Given the description of an element on the screen output the (x, y) to click on. 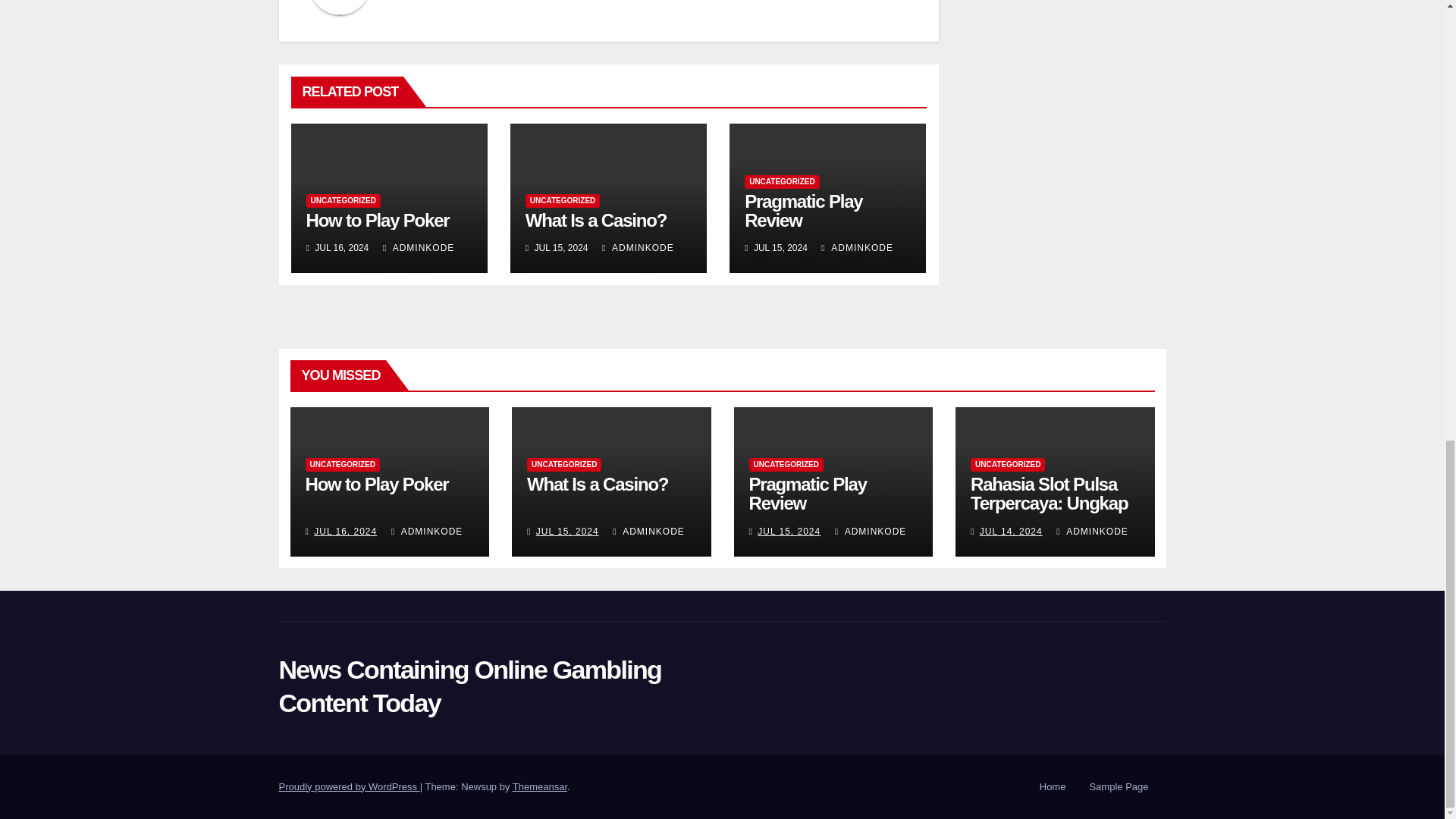
What Is a Casino? (595, 219)
How to Play Poker (377, 219)
Permalink to: How to Play Poker (377, 219)
Permalink to: Pragmatic Play Review (807, 493)
ADMINKODE (638, 247)
UNCATEGORIZED (562, 201)
Permalink to: What Is a Casino? (597, 484)
Home (1052, 786)
Pragmatic Play Review (802, 210)
Permalink to: Pragmatic Play Review (802, 210)
Permalink to: How to Play Poker (376, 484)
UNCATEGORIZED (342, 201)
ADMINKODE (418, 247)
UNCATEGORIZED (781, 182)
Permalink to: What Is a Casino? (595, 219)
